Given the description of an element on the screen output the (x, y) to click on. 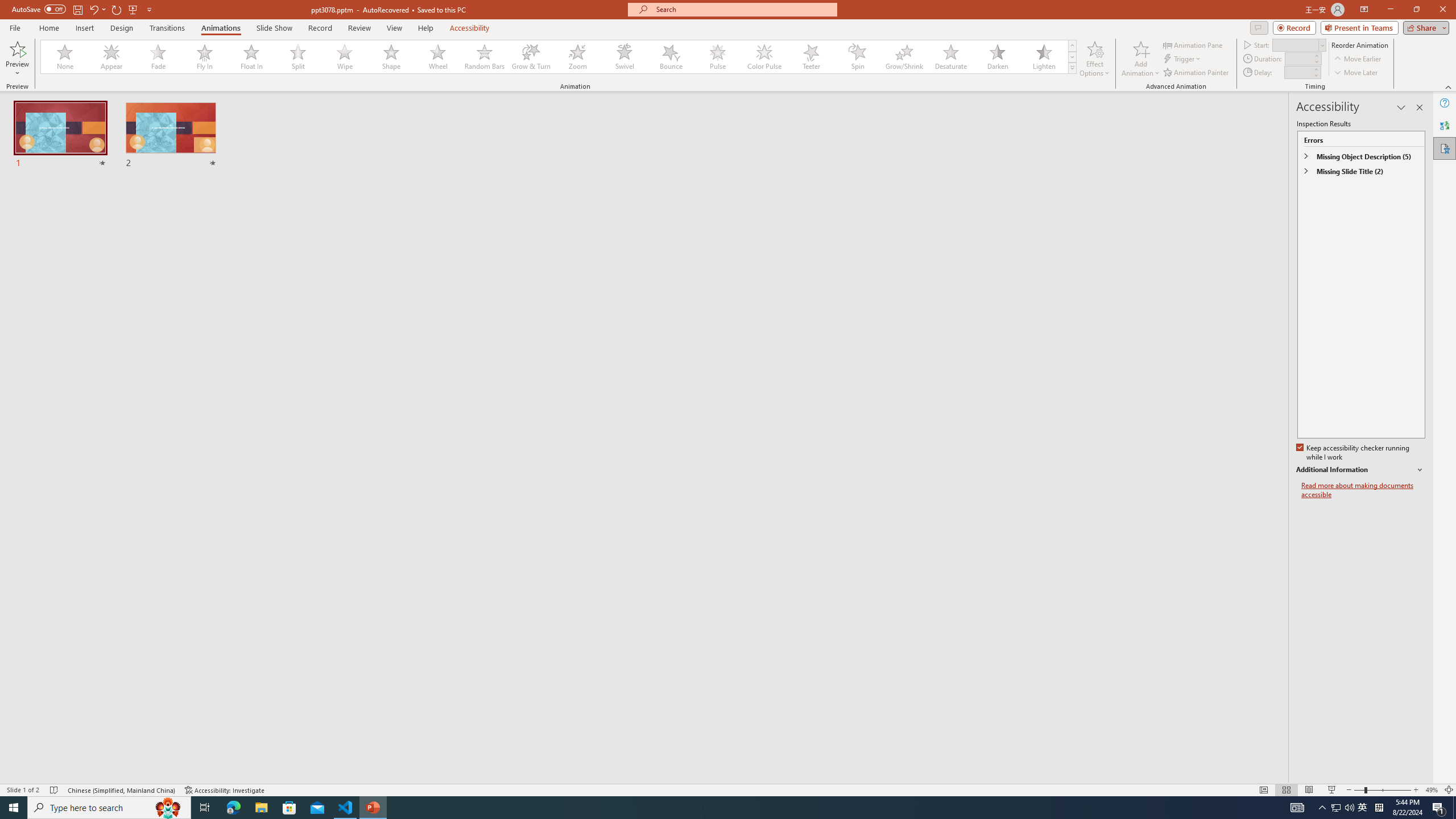
Grow/Shrink (903, 56)
Fly In (205, 56)
AutomationID: AnimationGallery (558, 56)
Random Bars (484, 56)
Desaturate (950, 56)
Pulse (717, 56)
Animation Painter (1196, 72)
